Given the description of an element on the screen output the (x, y) to click on. 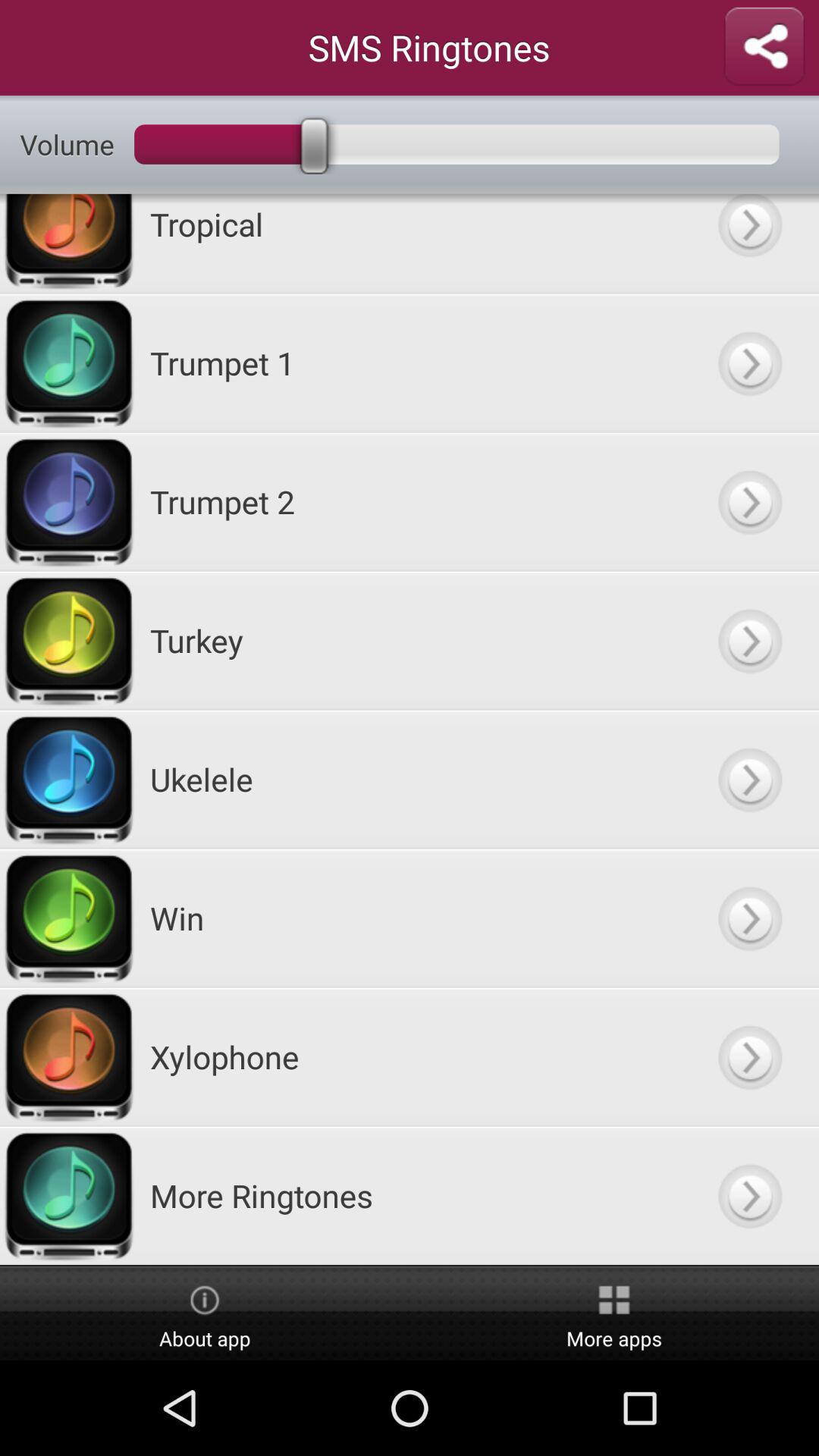
go to next option (749, 640)
